Given the description of an element on the screen output the (x, y) to click on. 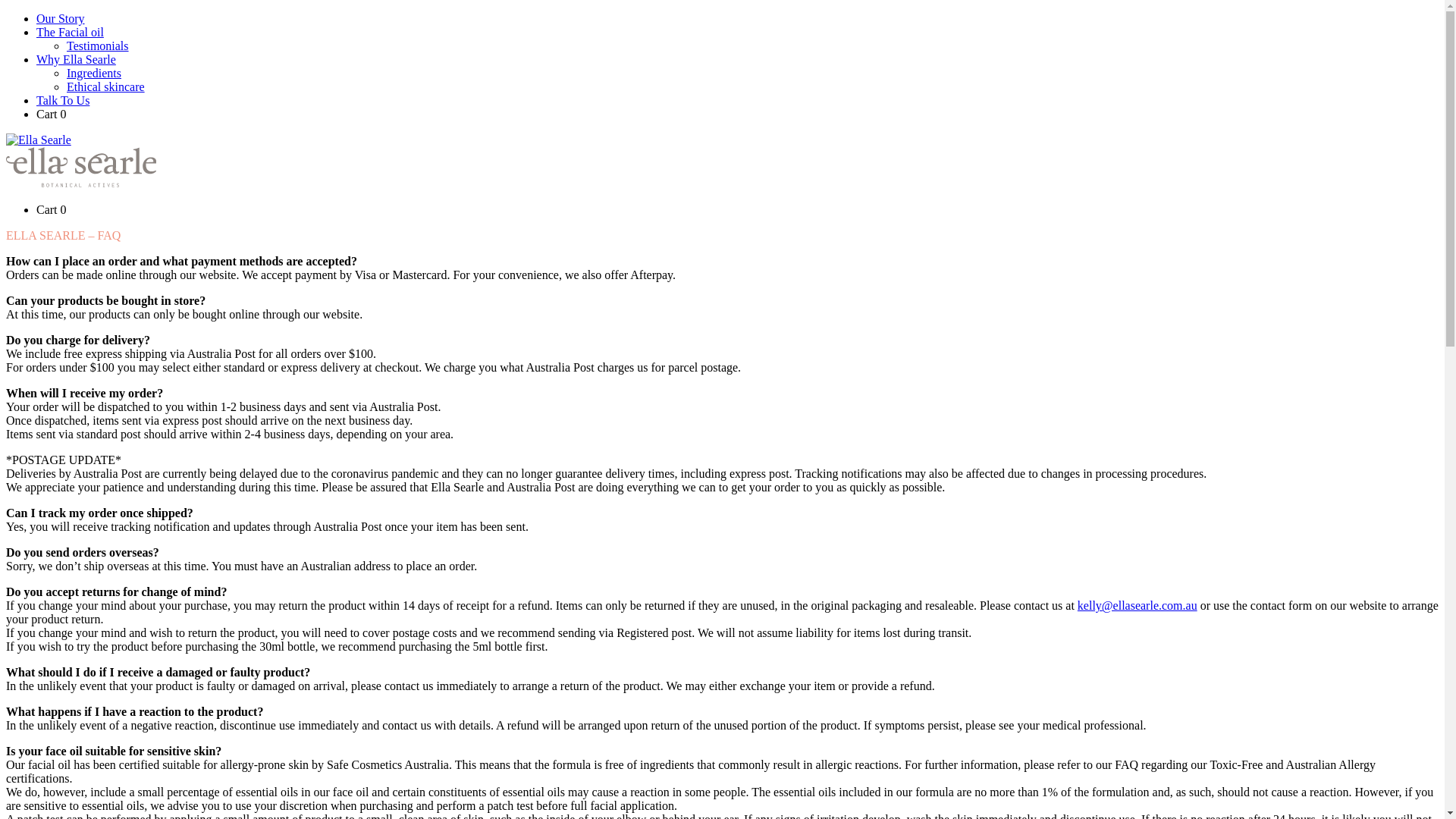
Our Story Element type: text (60, 18)
kelly@ellasearle.com.au Element type: text (1137, 605)
Why Ella Searle Element type: text (76, 59)
The Facial oil Element type: text (69, 31)
Ethical skincare Element type: text (105, 86)
Testimonials Element type: text (97, 45)
Talk To Us Element type: text (62, 100)
Ingredients Element type: text (93, 72)
